Given the description of an element on the screen output the (x, y) to click on. 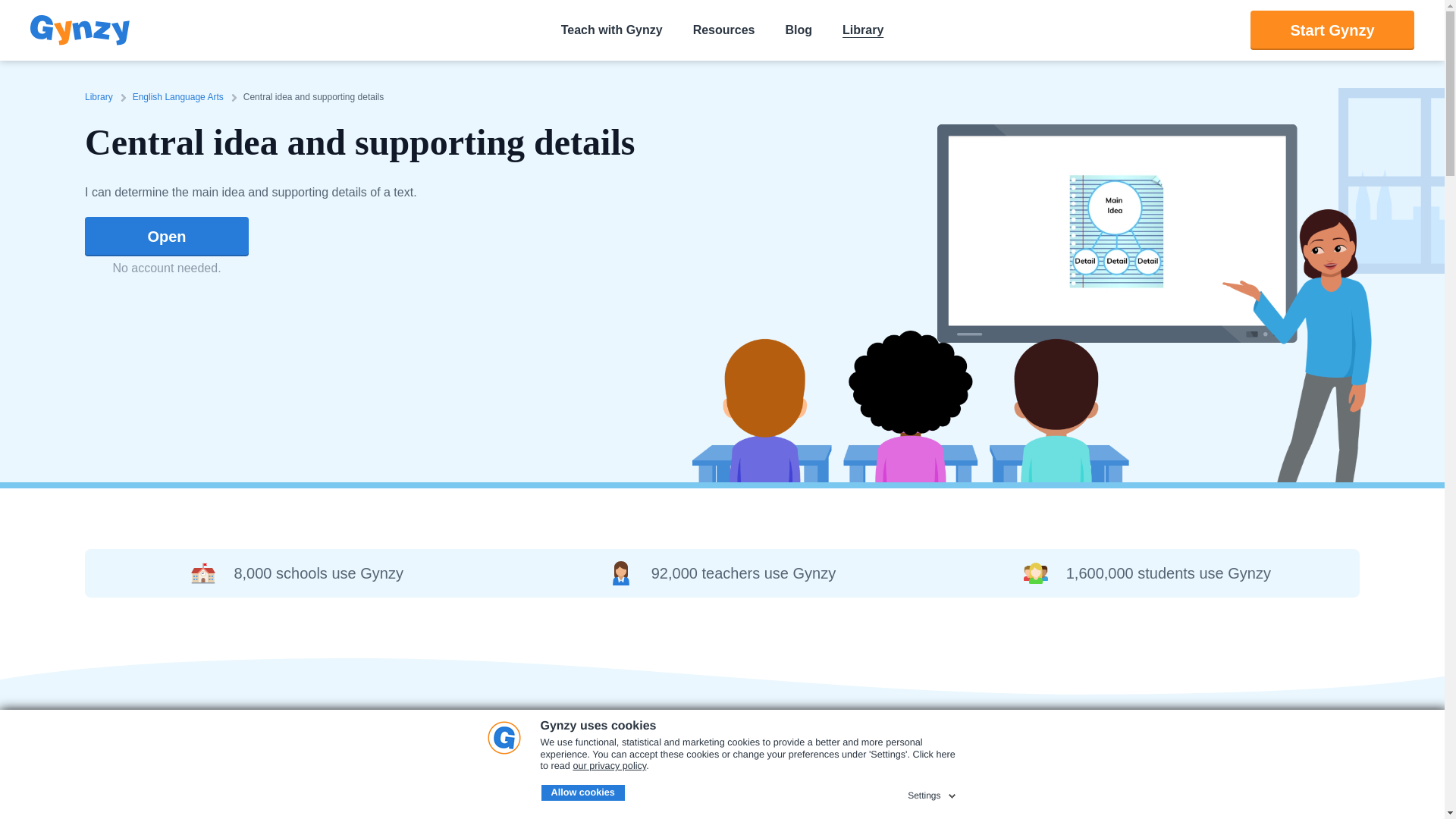
Allow cookies (582, 792)
Settings (932, 792)
our privacy policy (609, 765)
